Given the description of an element on the screen output the (x, y) to click on. 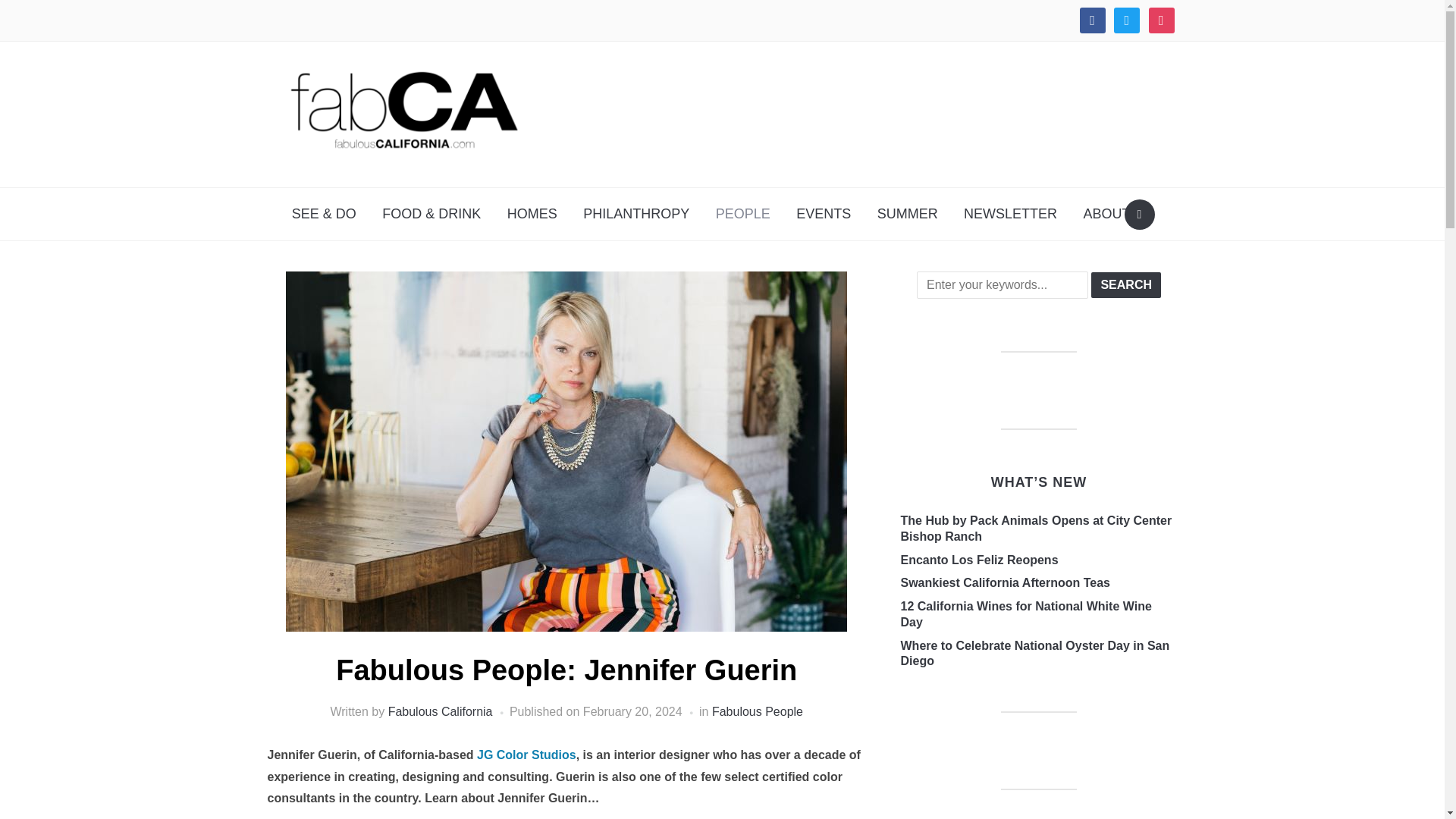
Posts by Fabulous California (440, 711)
Facebook (1092, 19)
Search (1125, 284)
Search (1139, 214)
facebook (1092, 19)
Search (1125, 284)
twitter (1126, 19)
Instagram (1160, 19)
instagram (1160, 19)
Twitter (1126, 19)
